Given the description of an element on the screen output the (x, y) to click on. 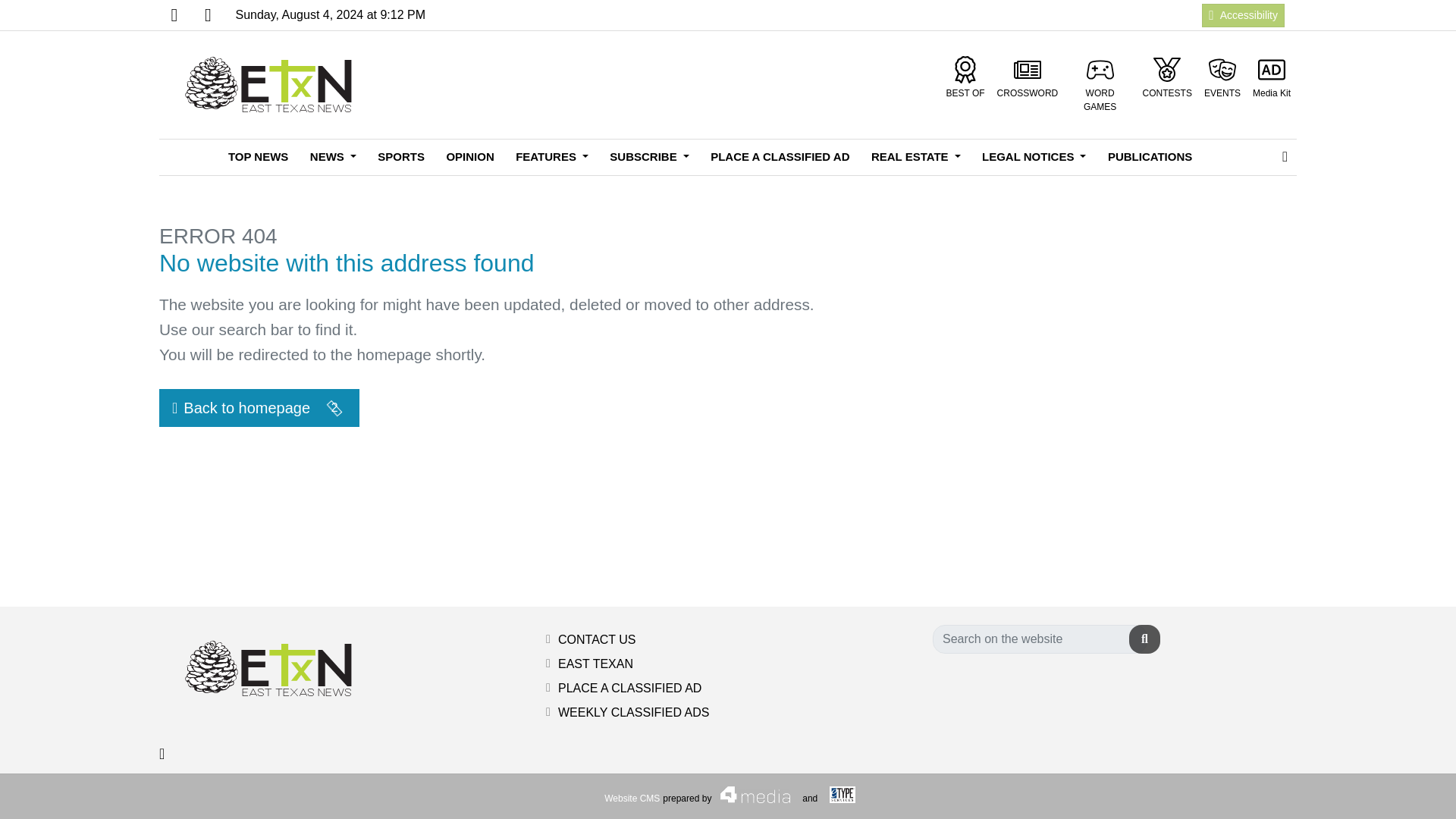
Go to Facebook.com (173, 15)
Facebook.com (173, 15)
WORD GAMES (1100, 84)
FEATURES (551, 157)
Go to homepage (272, 85)
LEGAL NOTICES (1033, 157)
SUBSCRIBE (648, 157)
TOP NEWS (258, 157)
CONTESTS (1167, 77)
www.4media.com (631, 798)
WORD GAMES (1100, 84)
Accessibility (1243, 14)
CROSSWORDS (1027, 77)
www.4media.com (750, 794)
